Given the description of an element on the screen output the (x, y) to click on. 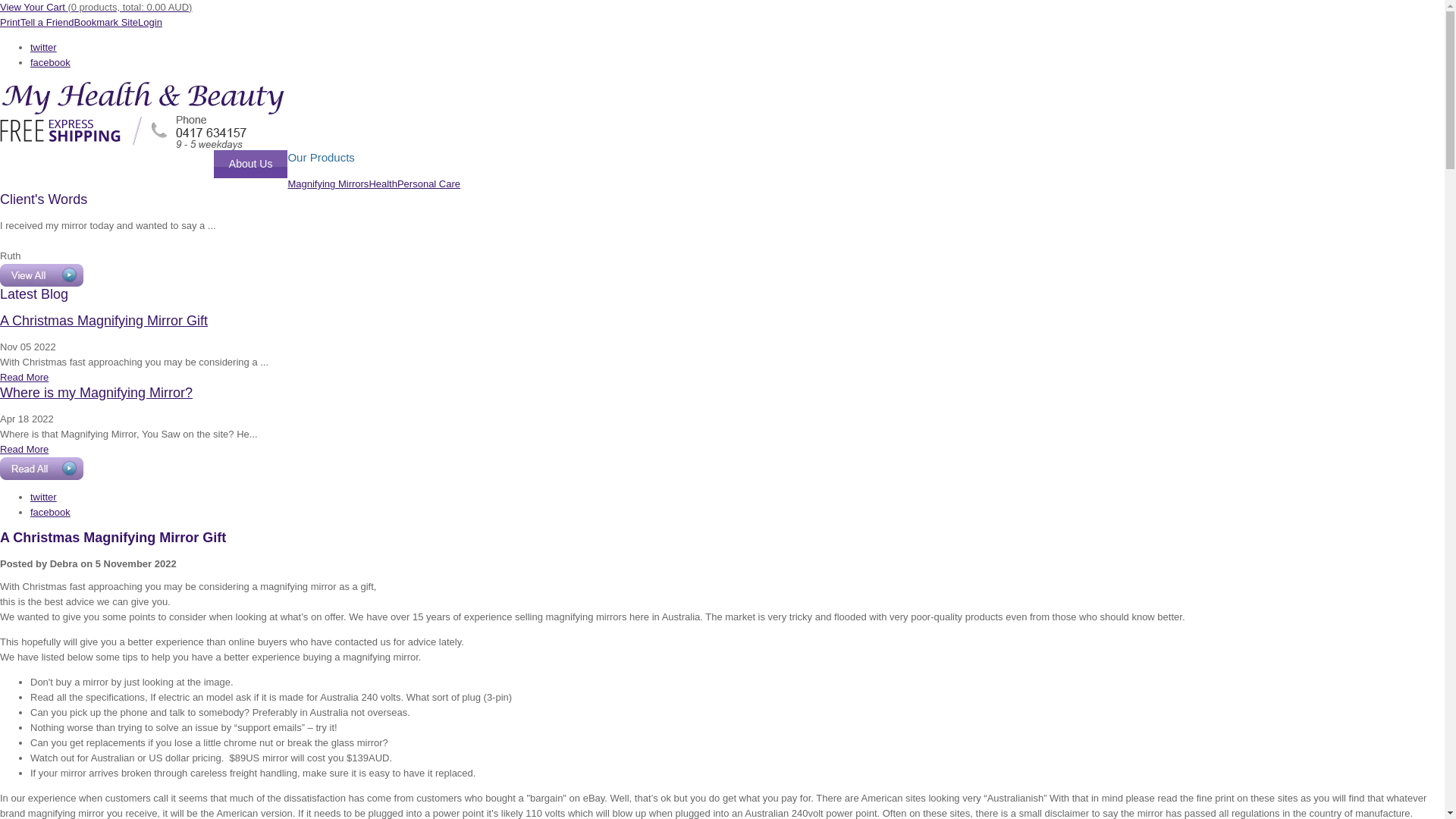
A Christmas Magnifying Mirror Gift Element type: text (103, 320)
Personal Care Element type: text (428, 183)
Products Element type: text (94, 164)
Health Element type: text (382, 183)
Read More Element type: text (24, 376)
Home Element type: text (29, 164)
Where is my Magnifying Mirror? Element type: text (96, 392)
twitter Element type: text (43, 496)
Magnifying Mirrors Element type: text (327, 183)
facebook Element type: text (50, 511)
Tell a Friend Element type: text (47, 22)
Bookmark Site Element type: text (106, 22)
twitter Element type: text (43, 47)
Login Element type: text (150, 22)
Print Element type: text (10, 22)
A Christmas Magnifying Mirror Gift Element type: text (112, 537)
Contact Us Element type: text (172, 164)
About Us Element type: text (250, 164)
View Your Cart (0 products, total: 0.00 AUD) Element type: text (95, 6)
Read More Element type: text (24, 449)
facebook Element type: text (50, 62)
